Given the description of an element on the screen output the (x, y) to click on. 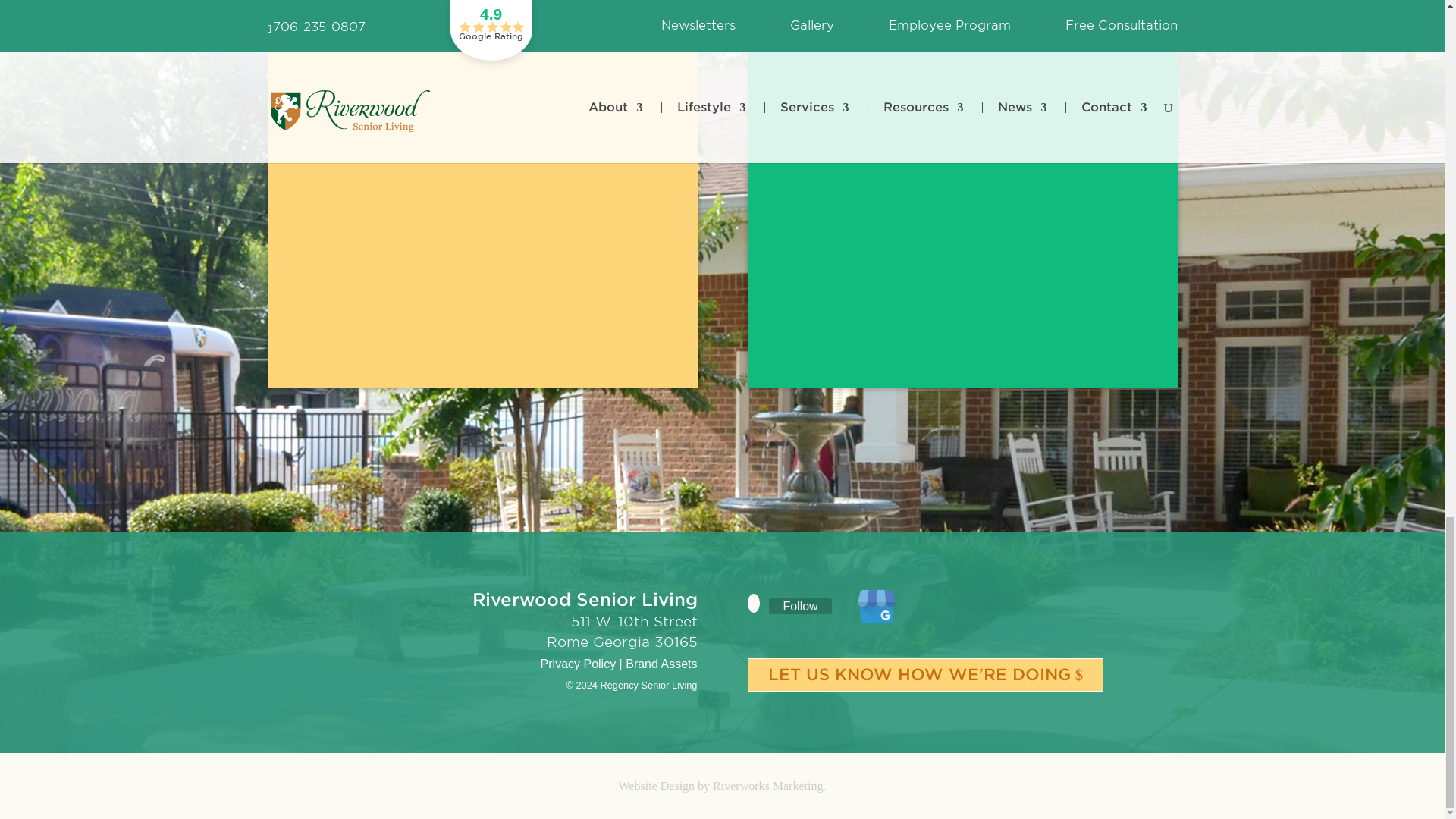
Regency Riverwood: Questions or Comments (481, 173)
Regency Riverwood: Schedule a Tour (962, 173)
